Given the description of an element on the screen output the (x, y) to click on. 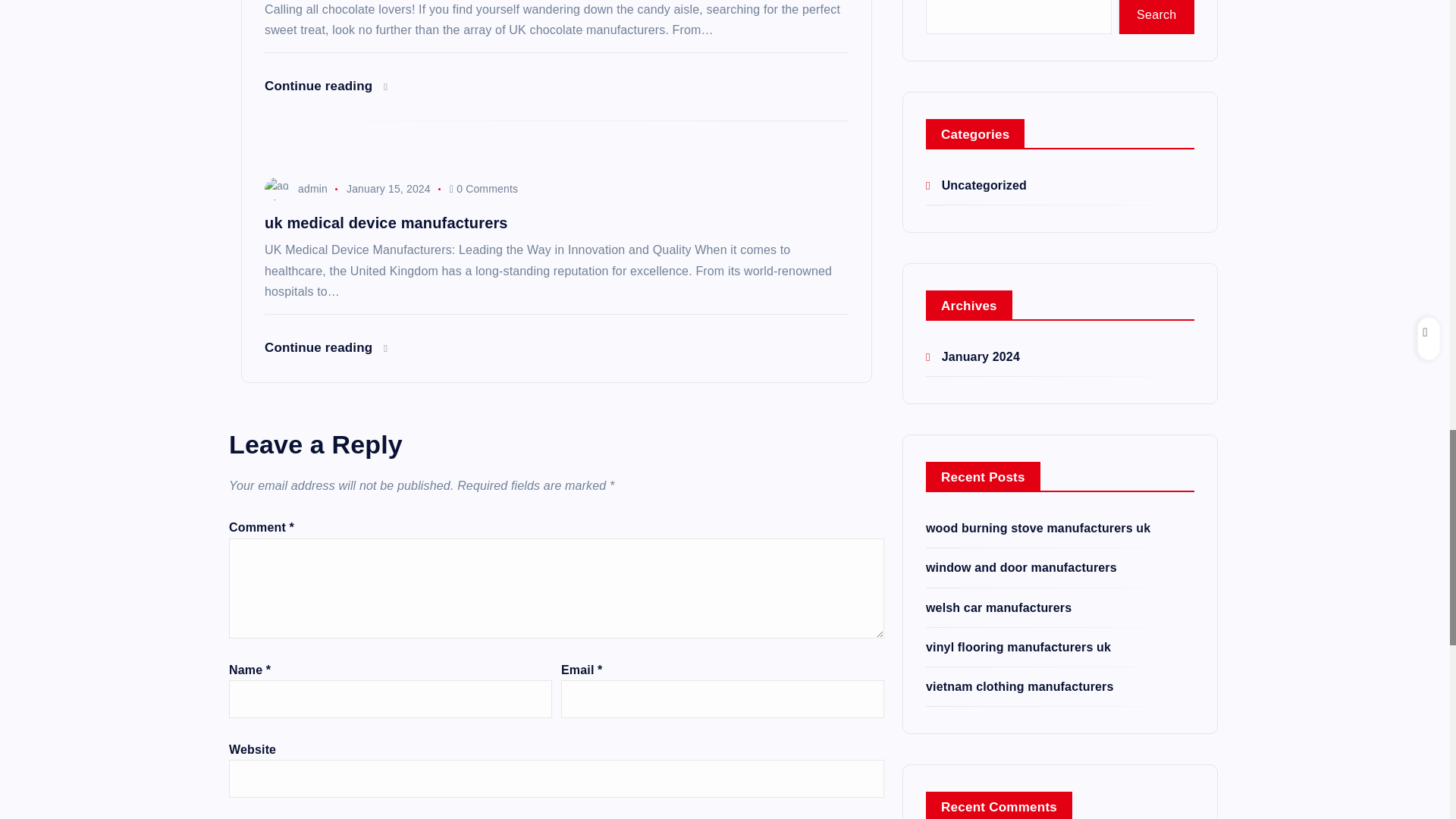
Continue reading (325, 85)
Continue reading (325, 347)
admin (295, 188)
